Given the description of an element on the screen output the (x, y) to click on. 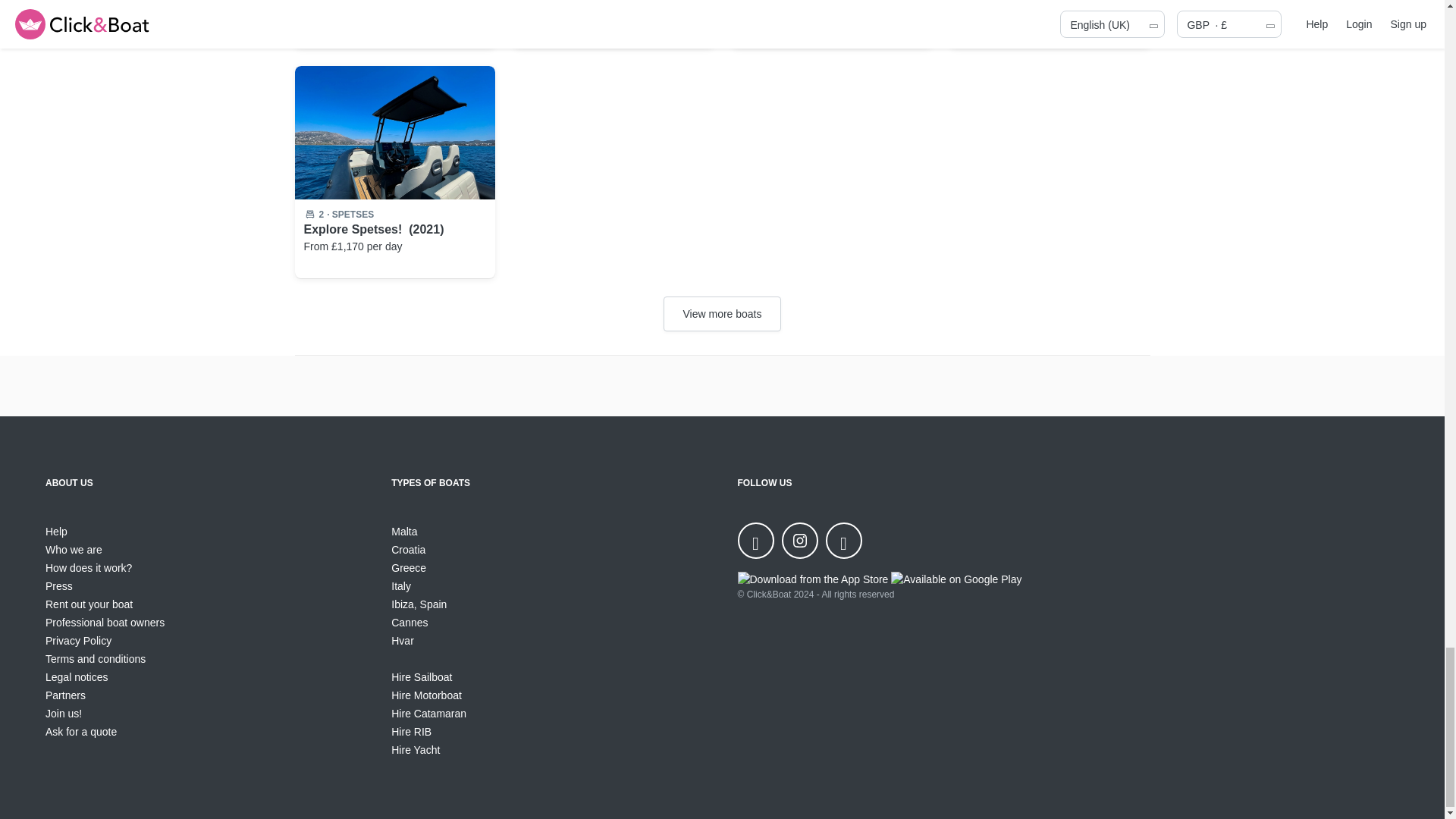
2 berths (320, 214)
